Given the description of an element on the screen output the (x, y) to click on. 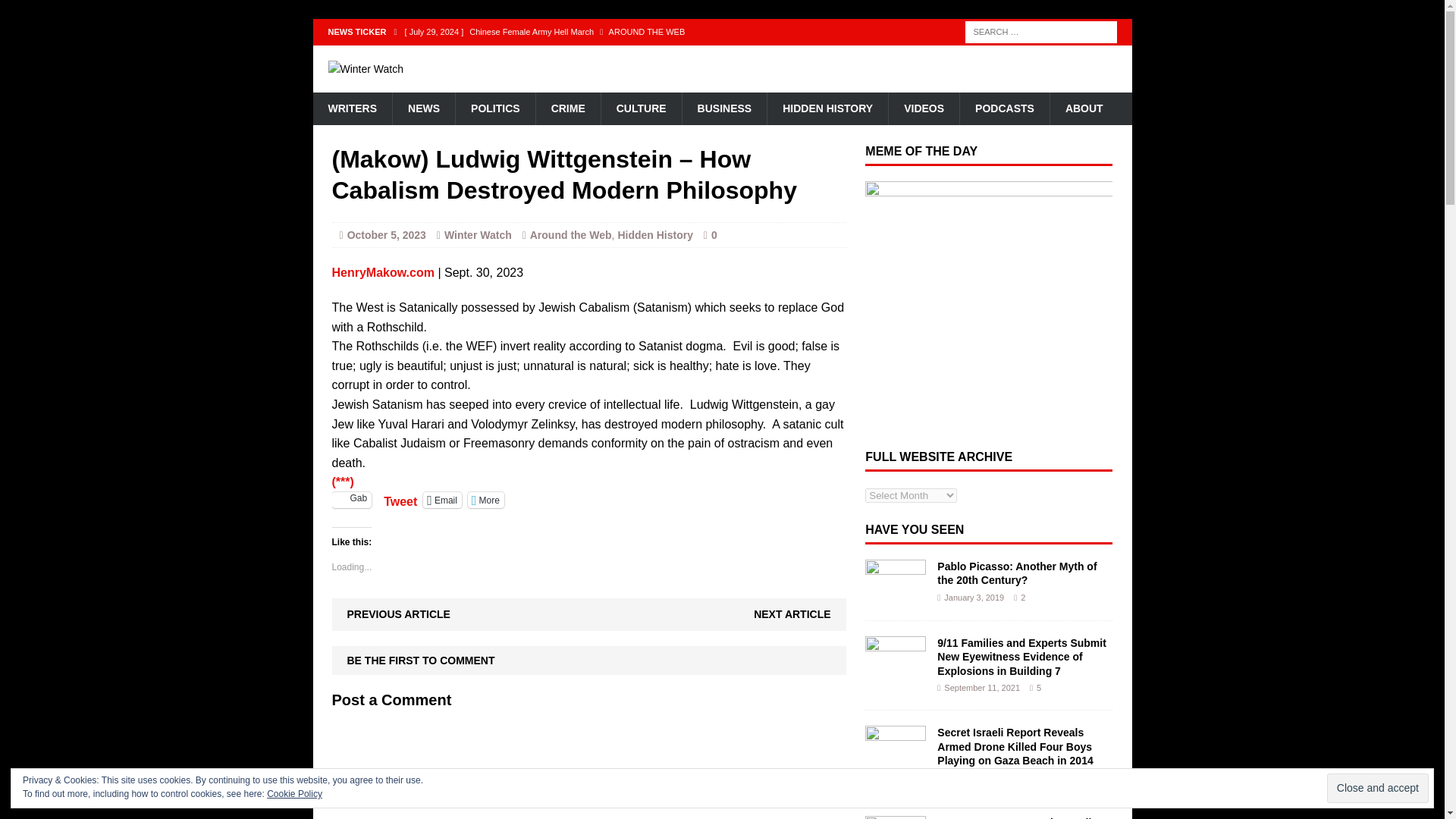
POLITICS (494, 108)
Search (37, 11)
WRITERS (352, 108)
October 5, 2023 (386, 234)
CULTURE (640, 108)
NEWS (422, 108)
PODCASTS (1004, 108)
Around the Web (570, 234)
Chinese Female Army Hell March (627, 31)
BUSINESS (724, 108)
Close and accept (1377, 788)
Hidden History (655, 234)
VIDEOS (923, 108)
HIDDEN HISTORY (827, 108)
ABOUT (1083, 108)
